Given the description of an element on the screen output the (x, y) to click on. 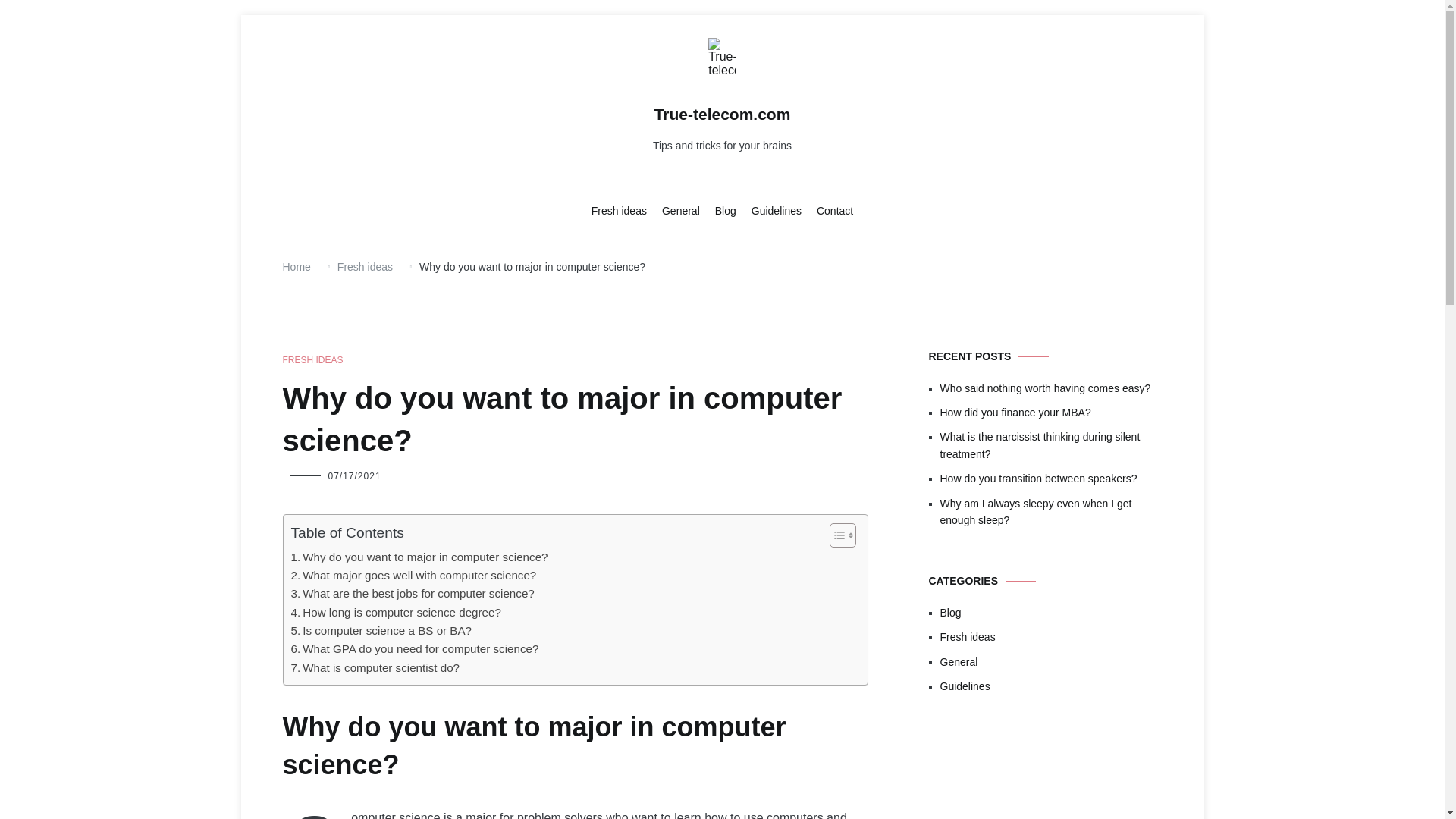
Who said nothing worth having comes easy? (1050, 388)
What GPA do you need for computer science? (414, 648)
Is computer science a BS or BA? (381, 630)
What major goes well with computer science? (414, 575)
How long is computer science degree? (395, 612)
What GPA do you need for computer science? (414, 648)
Fresh ideas (618, 211)
Fresh ideas (365, 266)
Why do you want to major in computer science? (419, 556)
How did you finance your MBA? (1050, 412)
What is computer scientist do? (375, 668)
Is computer science a BS or BA? (381, 630)
Guidelines (776, 211)
Why do you want to major in computer science? (419, 556)
